Given the description of an element on the screen output the (x, y) to click on. 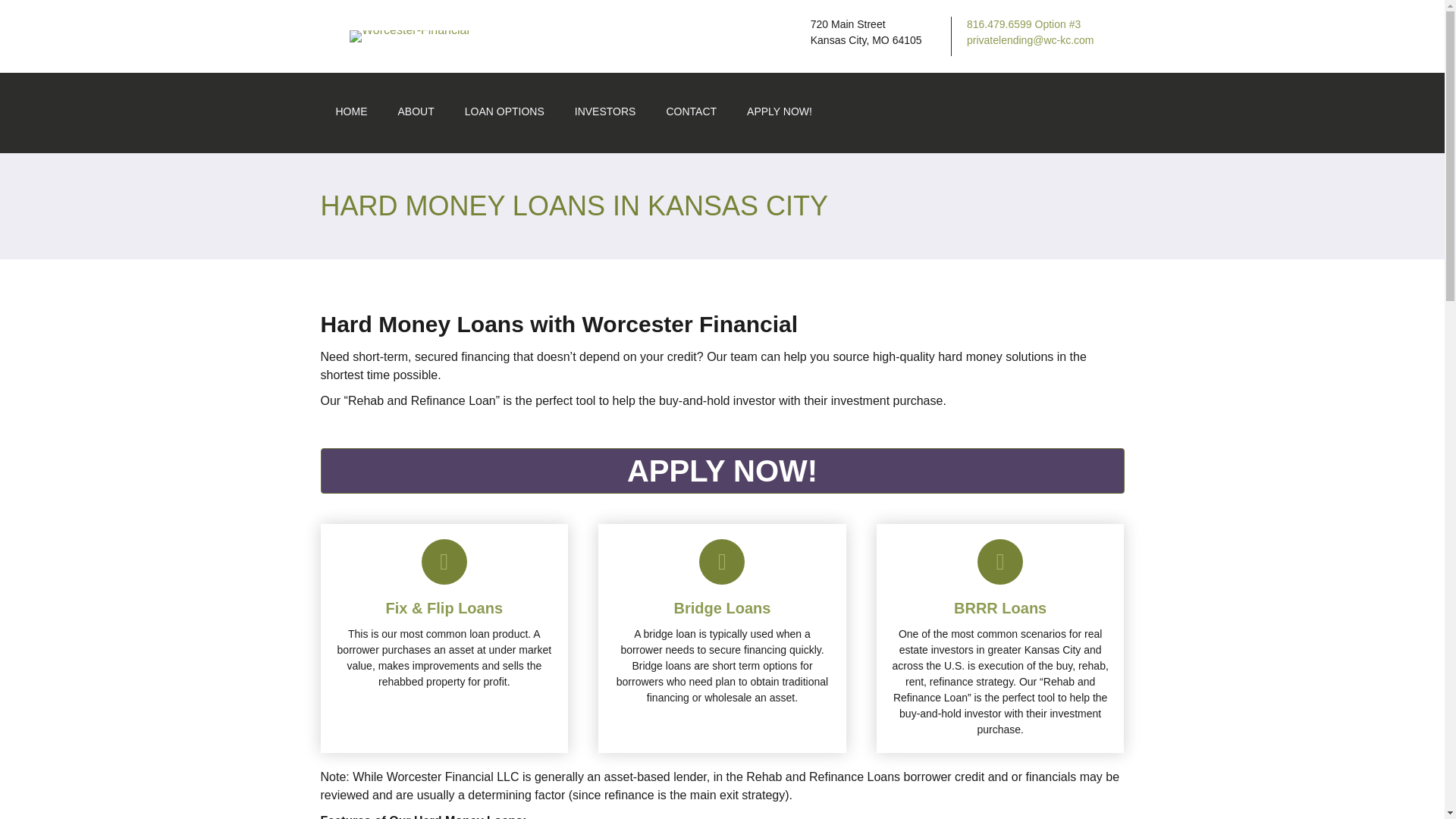
HOME (350, 112)
APPLY NOW! (722, 470)
LOAN OPTIONS (504, 112)
ABOUT (414, 112)
INVESTORS (604, 112)
Worcester-Financial (408, 36)
CONTACT (691, 112)
APPLY NOW! (779, 112)
